Given the description of an element on the screen output the (x, y) to click on. 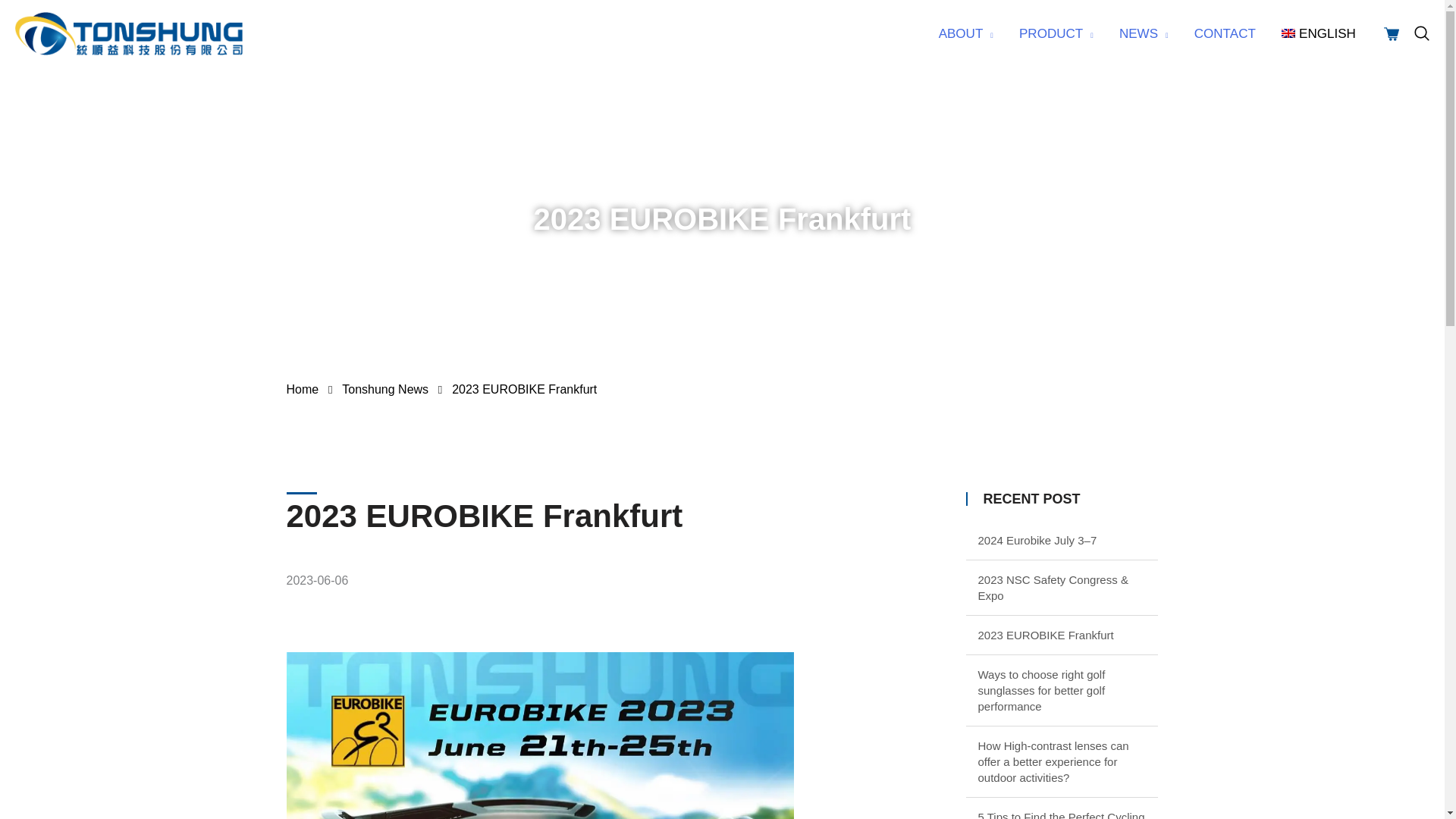
ABOUT (966, 33)
NEWS (1143, 33)
ENGLISH (1318, 33)
English (1318, 33)
PRODUCT (1056, 33)
CONTACT (1224, 33)
